Given the description of an element on the screen output the (x, y) to click on. 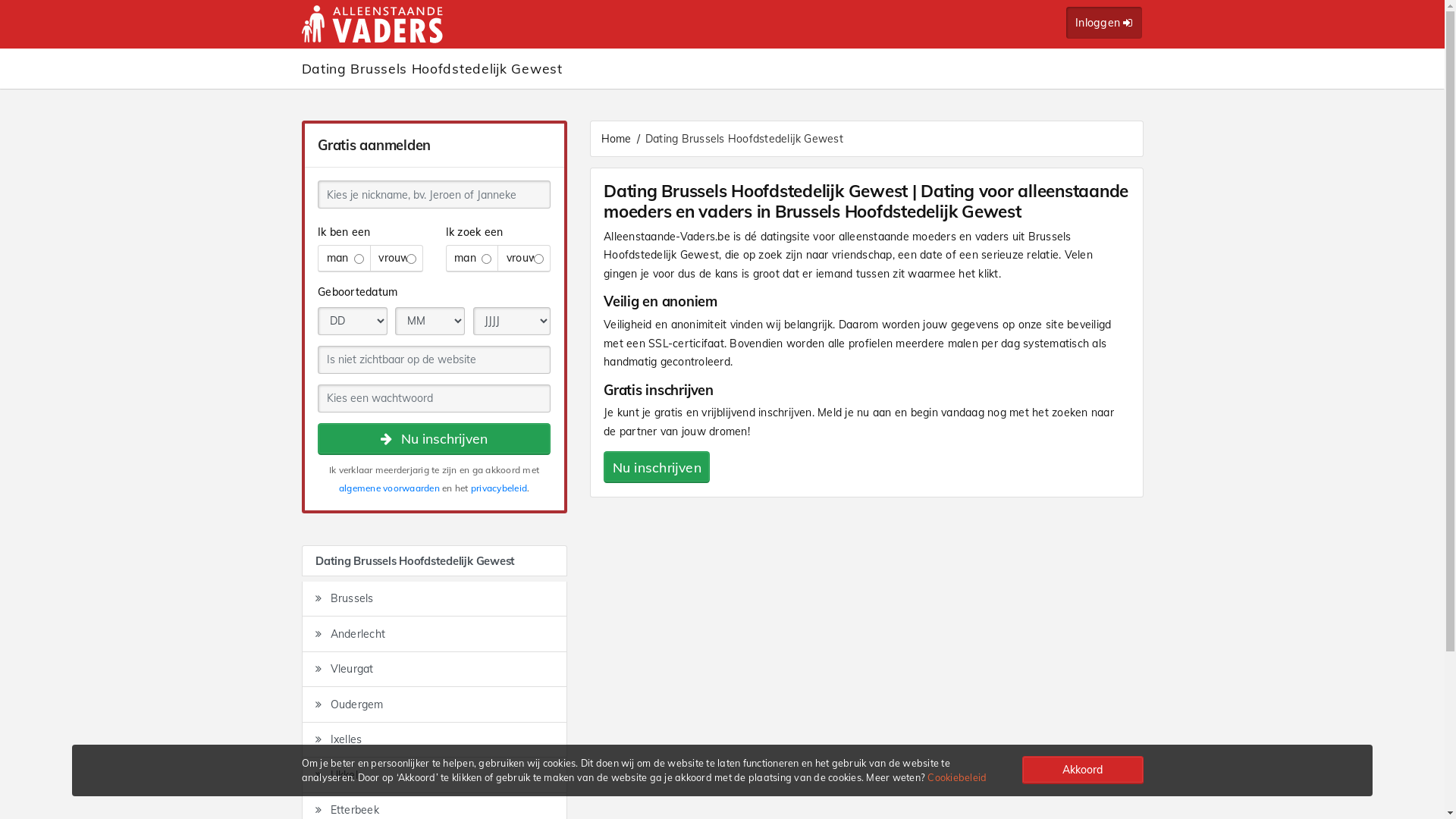
Anderlecht Element type: text (434, 634)
Brussels Element type: text (434, 599)
Ixelles Element type: text (434, 740)
algemene voorwaarden Element type: text (388, 487)
Home Element type: text (615, 137)
Vleurgat Element type: text (434, 669)
Nu inschrijven Element type: text (433, 439)
Cookiebeleid Element type: text (956, 777)
Inloggen Element type: text (1104, 22)
Nu inschrijven Element type: text (656, 467)
Oudergem Element type: text (434, 704)
privacybeleid Element type: text (498, 487)
Akkoord Element type: text (1082, 770)
Ukkel Element type: text (434, 775)
